Given the description of an element on the screen output the (x, y) to click on. 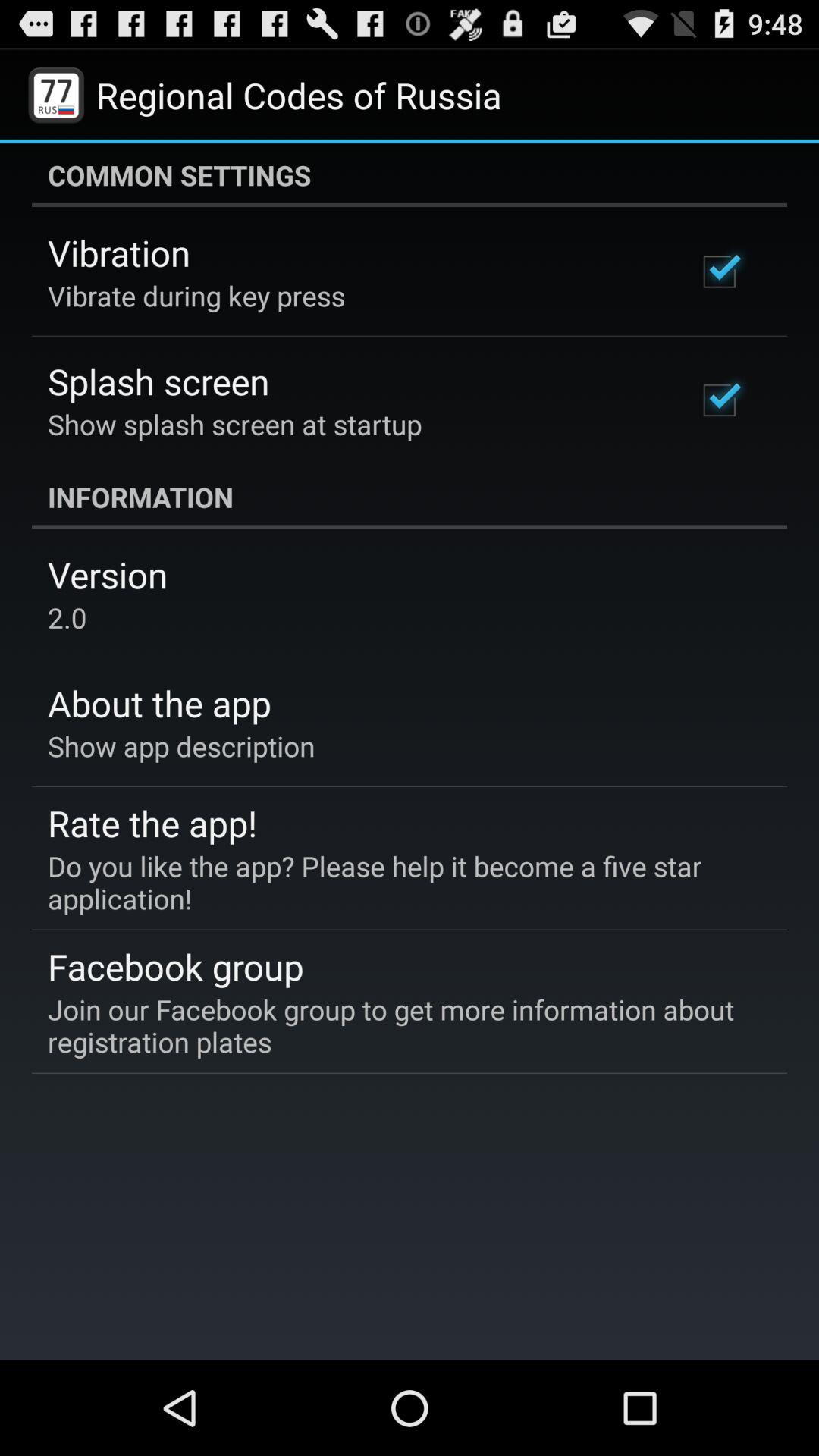
press app below vibration app (196, 295)
